Given the description of an element on the screen output the (x, y) to click on. 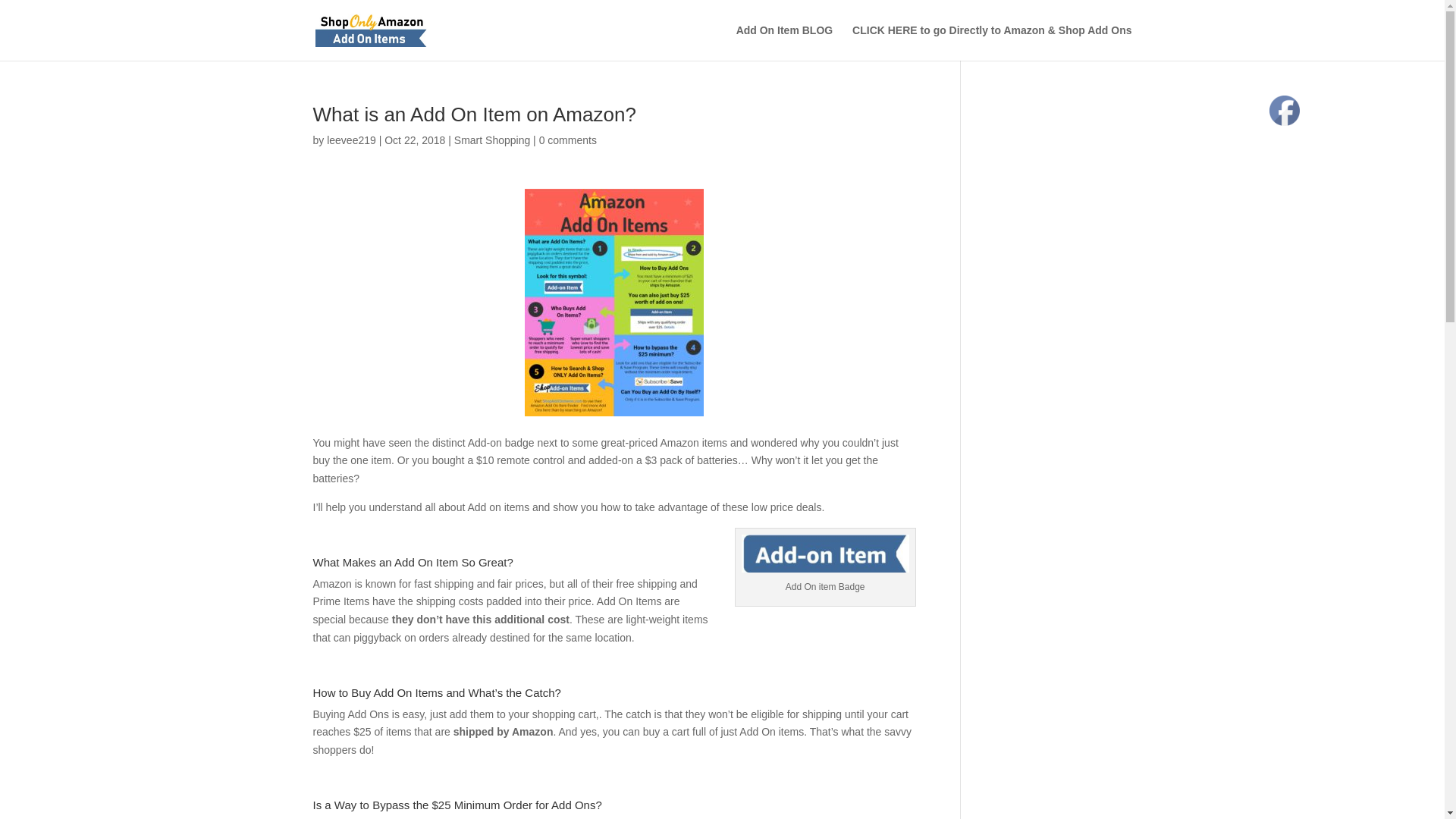
Smart Shopping (491, 140)
leevee219 (350, 140)
Add On Item BLOG (784, 42)
Facebook (1284, 110)
Posts by leevee219 (350, 140)
0 comments (567, 140)
